Given the description of an element on the screen output the (x, y) to click on. 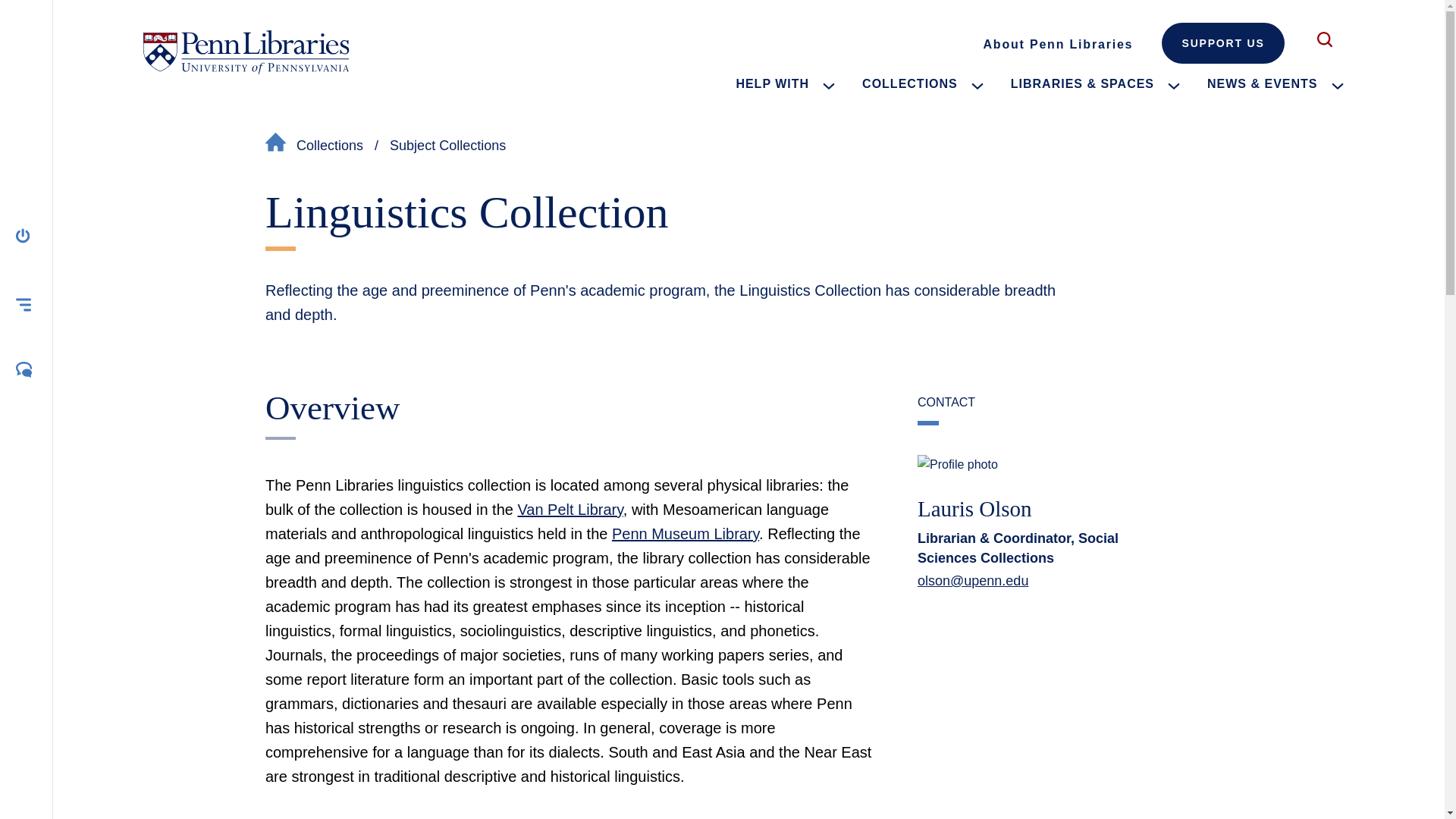
View staff profile (1030, 465)
Support UsSupport Us (1222, 42)
View staff profile (974, 508)
Penn Libraries logo (245, 52)
